Given the description of an element on the screen output the (x, y) to click on. 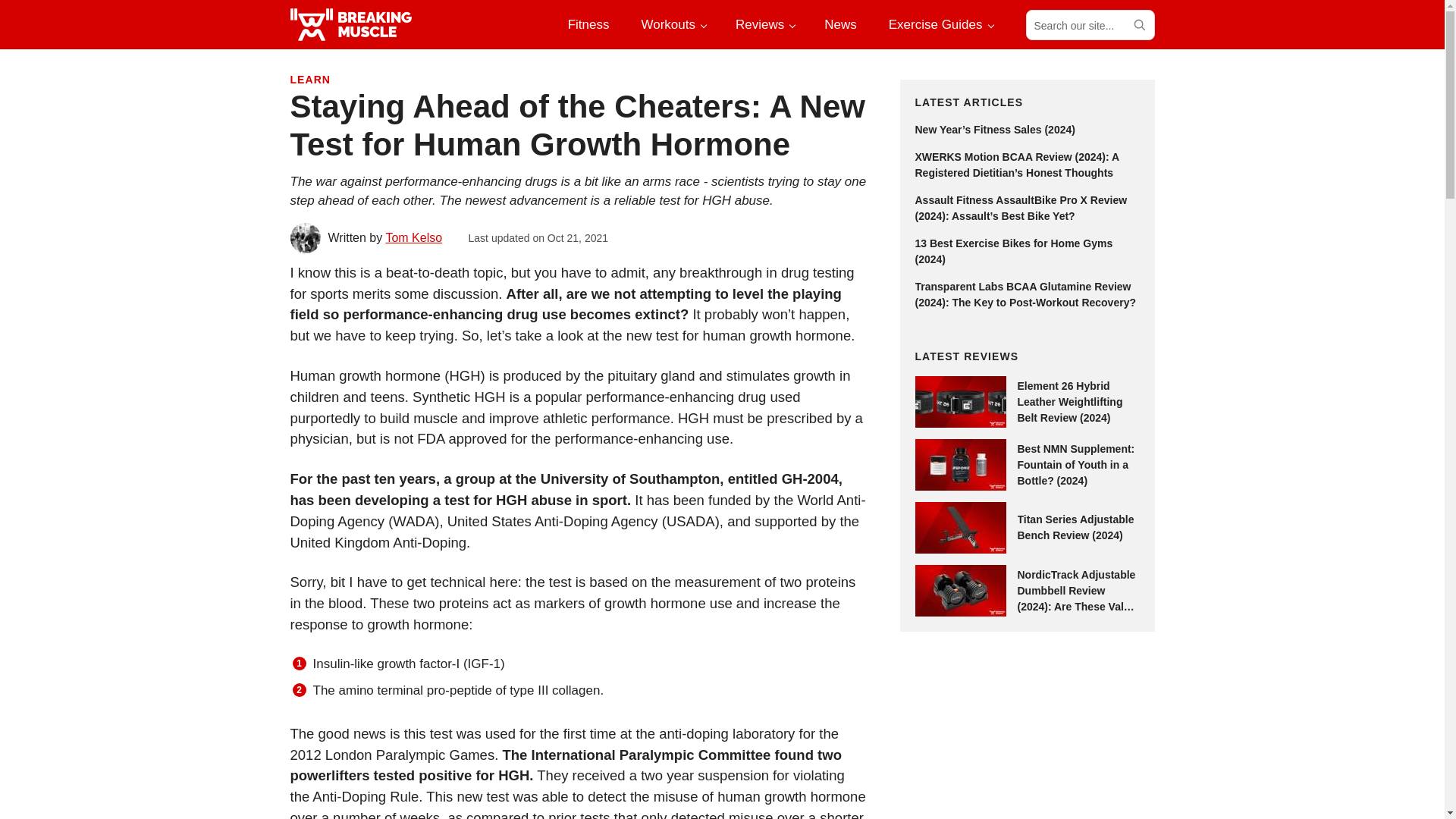
Fitness (588, 24)
Submit search (1138, 24)
Workouts (672, 24)
Reviews (764, 24)
Submit search (1138, 24)
